Given the description of an element on the screen output the (x, y) to click on. 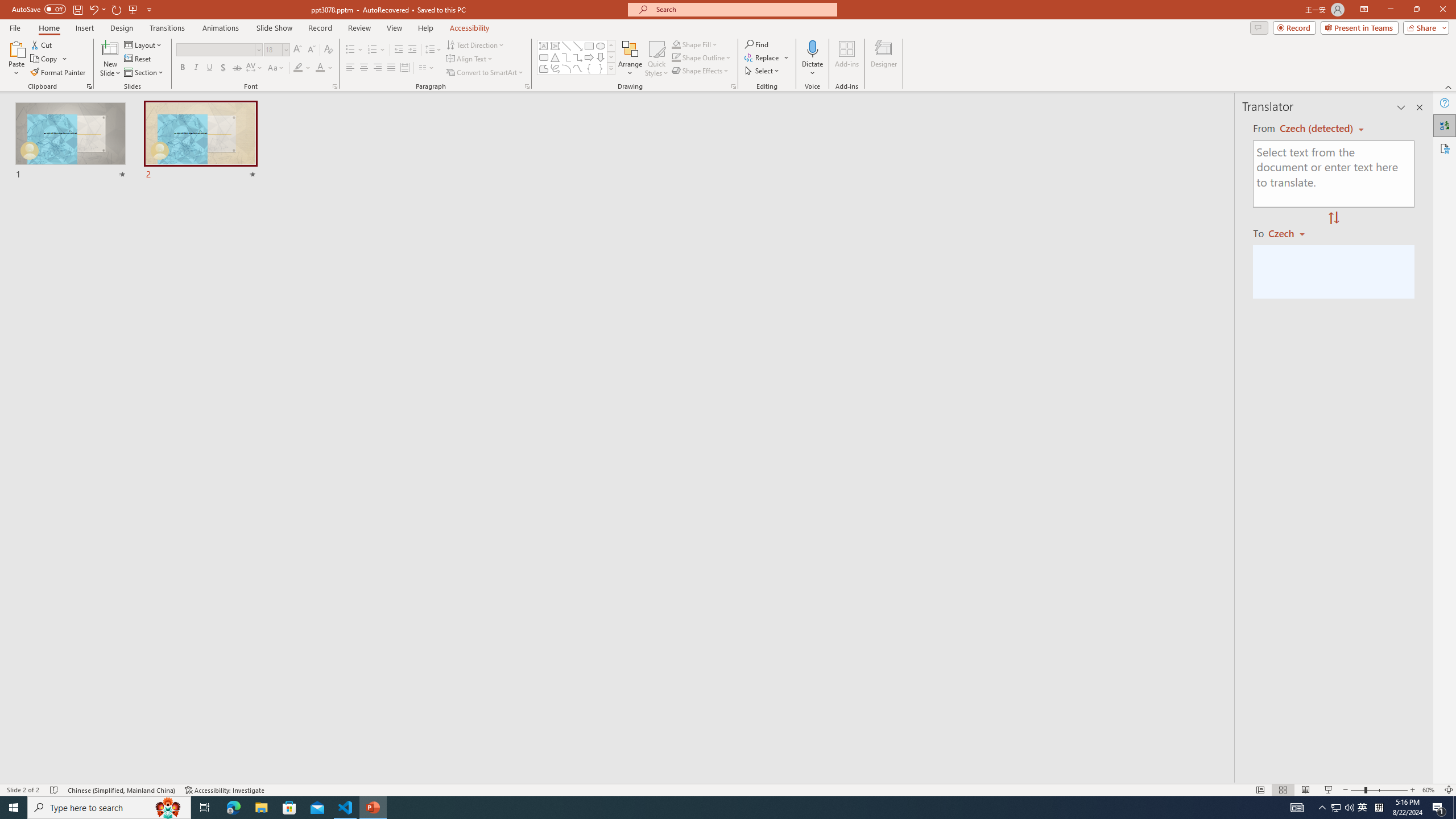
Swap "from" and "to" languages. (1333, 218)
Zoom 60% (1430, 790)
